Given the description of an element on the screen output the (x, y) to click on. 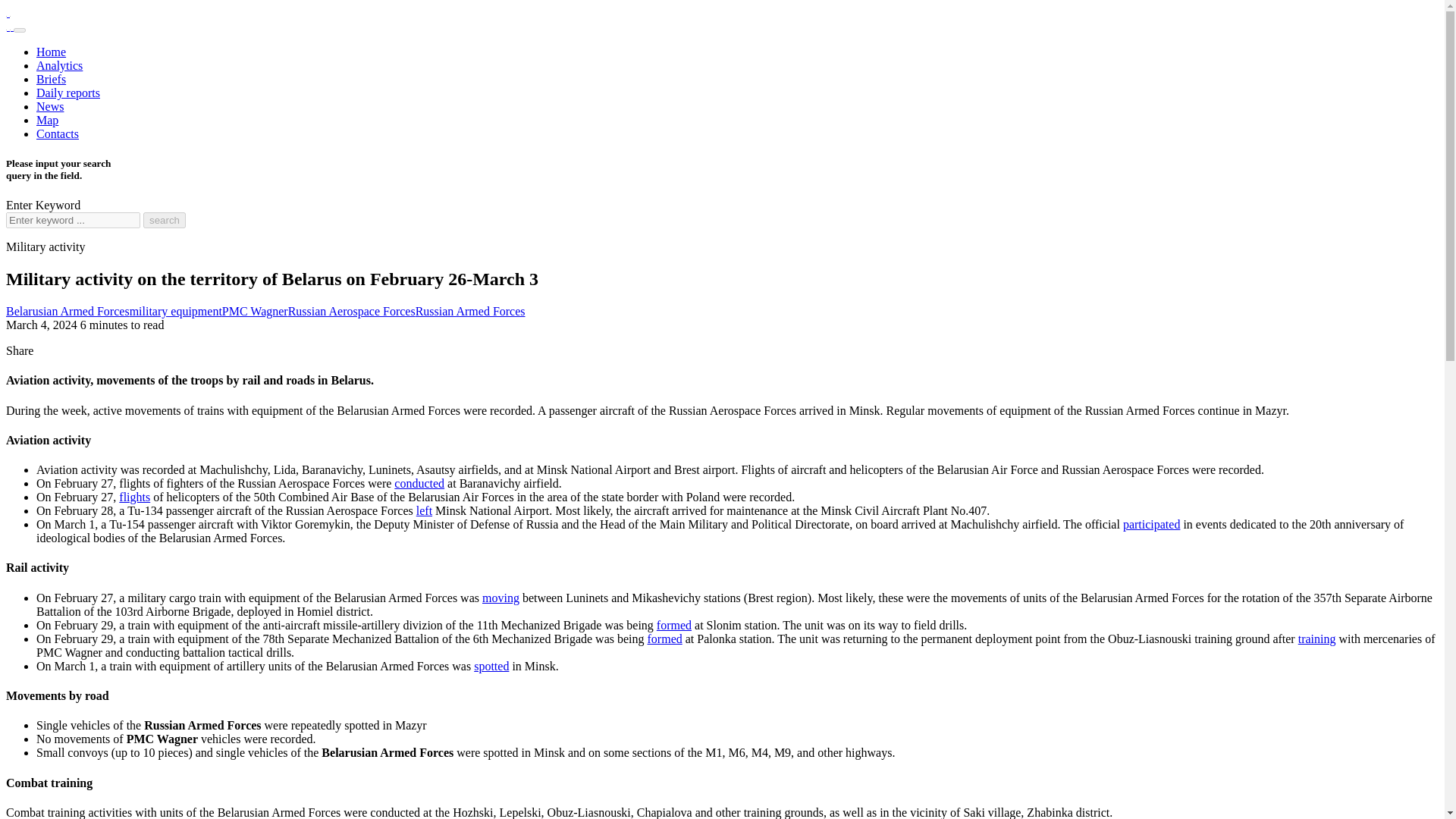
participated (1151, 523)
conducted (419, 482)
Russian Armed Forces (469, 310)
Russian Aerospace Forces (351, 310)
Contacts (57, 133)
Home (50, 51)
flights (134, 496)
military equipment (175, 310)
search (164, 220)
Belarusian Armed Forces (67, 310)
